Given the description of an element on the screen output the (x, y) to click on. 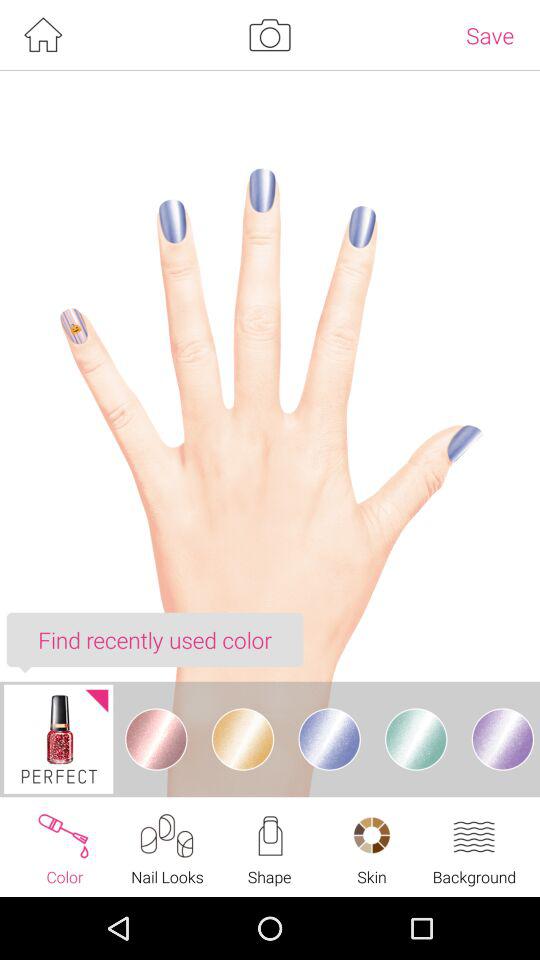
flip to the save (490, 35)
